Given the description of an element on the screen output the (x, y) to click on. 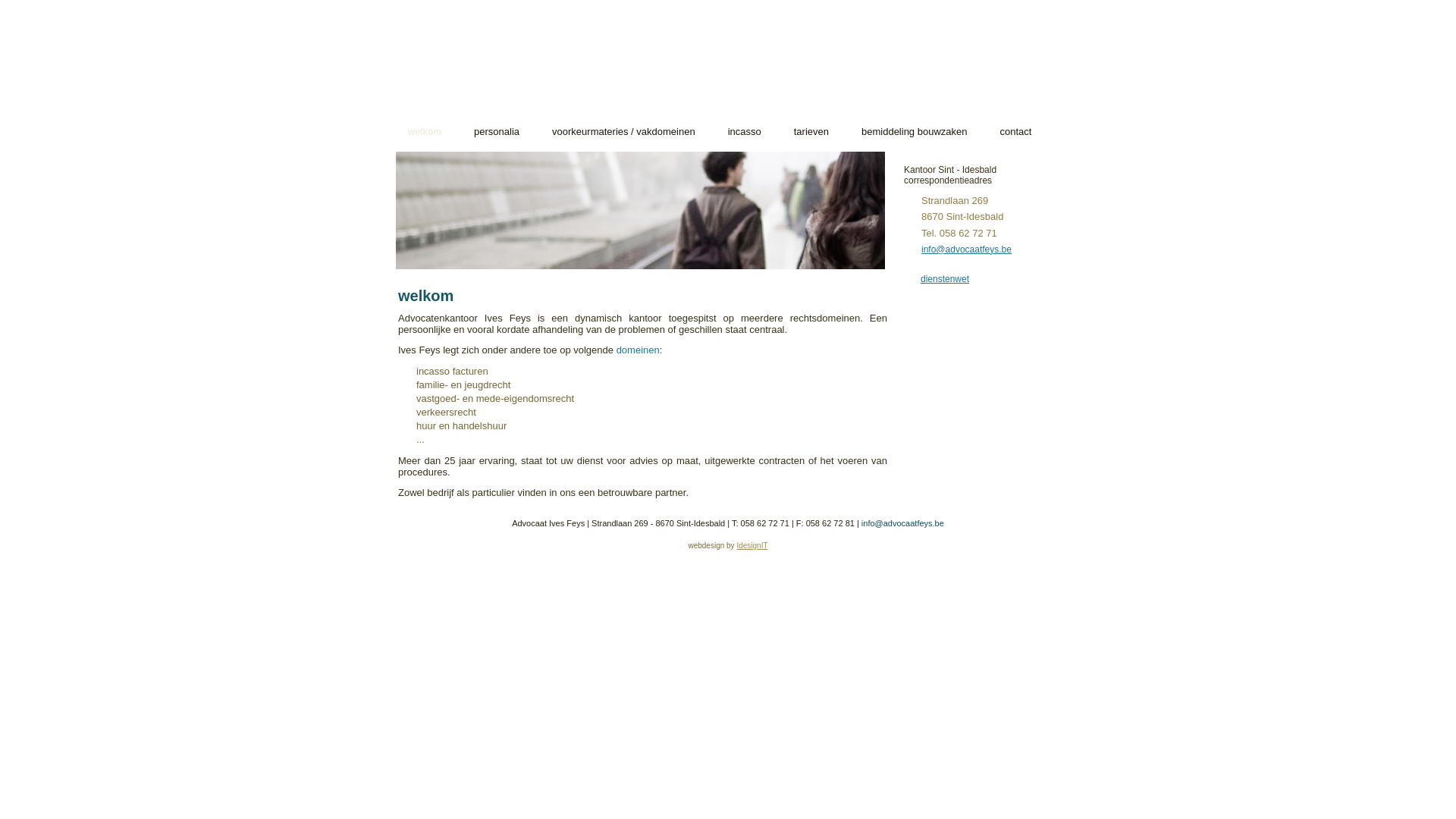
bemiddeling bouwzaken Element type: text (913, 131)
voorkeurmateries / vakdomeinen Element type: text (623, 131)
info@advocaatfeys.be Element type: text (902, 522)
dienstenwet Element type: text (944, 278)
incasso Element type: text (744, 131)
tarieven Element type: text (811, 131)
contact Element type: text (1015, 131)
personalia Element type: text (496, 131)
IdesignIT Element type: text (751, 545)
info@advocaatfeys.be Element type: text (966, 249)
welkom Element type: text (424, 131)
domeinen Element type: text (637, 349)
